Given the description of an element on the screen output the (x, y) to click on. 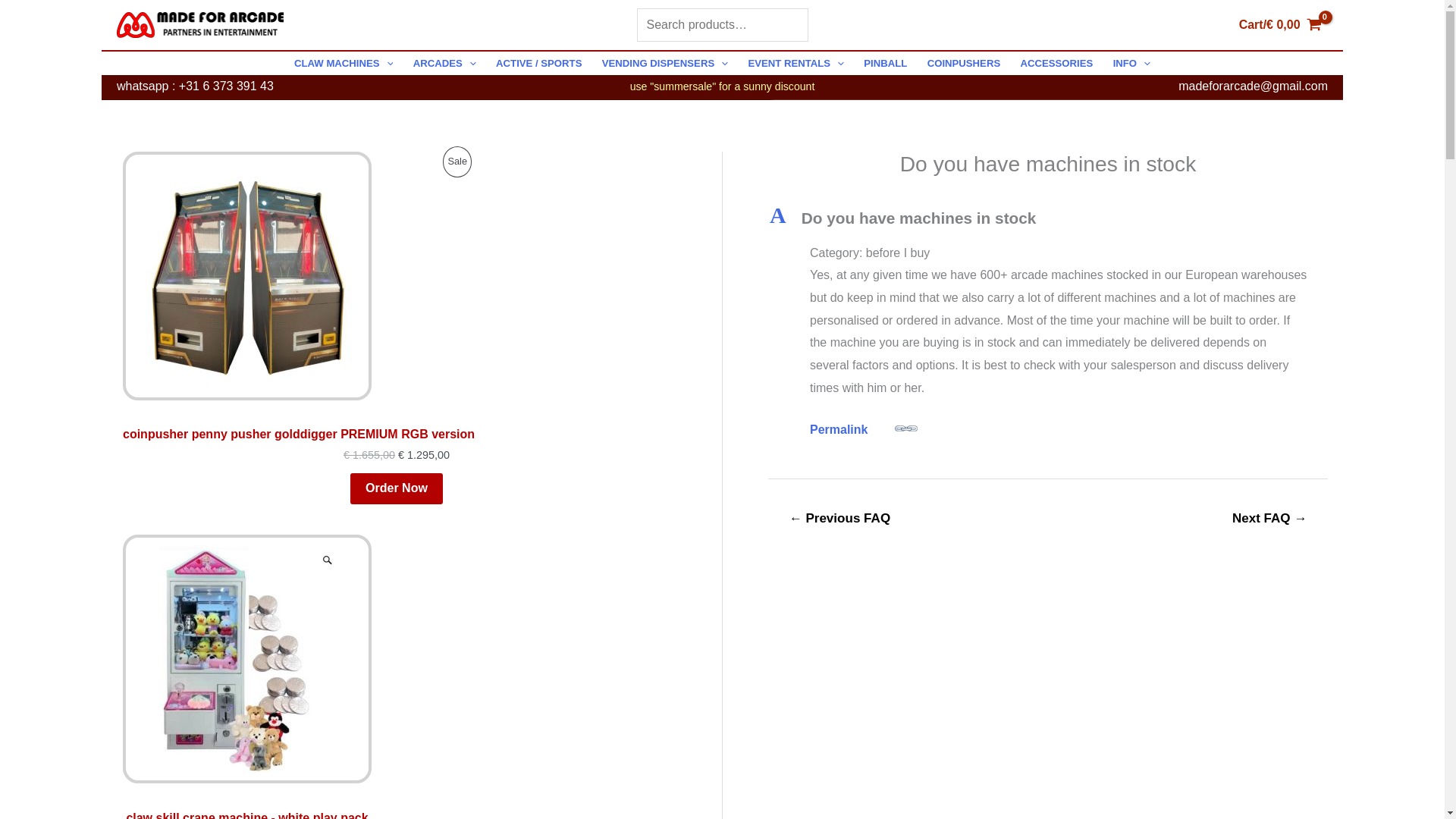
CLAW MACHINES (343, 63)
COINPUSHERS (963, 63)
ARCADES (444, 63)
INFO (1131, 63)
PINBALL (885, 63)
EVENT RENTALS (795, 63)
ACCESSORIES (1056, 63)
VENDING DISPENSERS (665, 63)
